Given the description of an element on the screen output the (x, y) to click on. 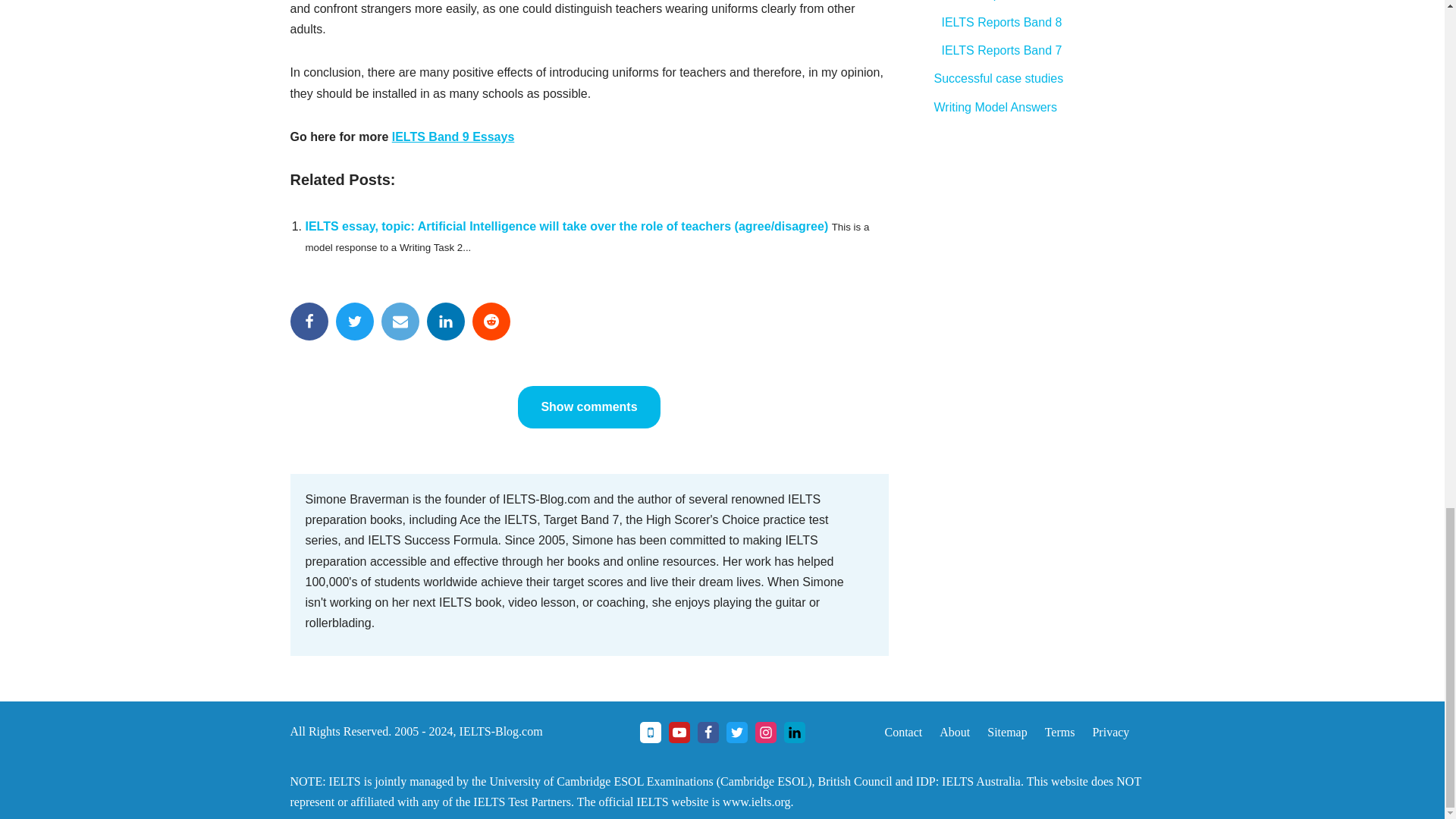
IELTS-Blog App (650, 731)
Reddit (490, 321)
Facebook (708, 731)
Email (399, 321)
Twitter (353, 321)
LinkedIn (445, 321)
Youtube (679, 731)
Facebook (308, 321)
